Given the description of an element on the screen output the (x, y) to click on. 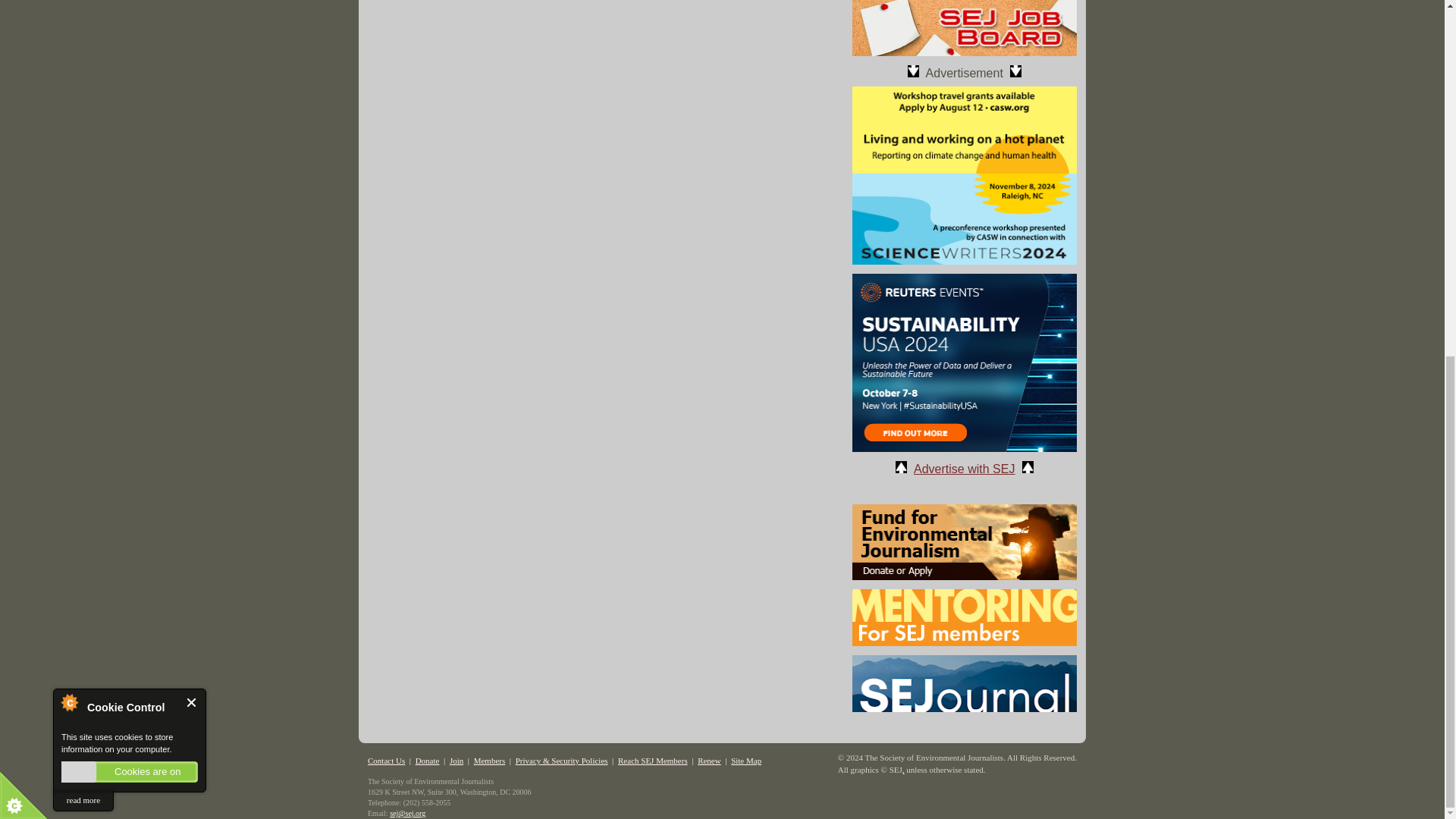
Close (191, 76)
Cookies are on (129, 146)
read more (82, 175)
